Given the description of an element on the screen output the (x, y) to click on. 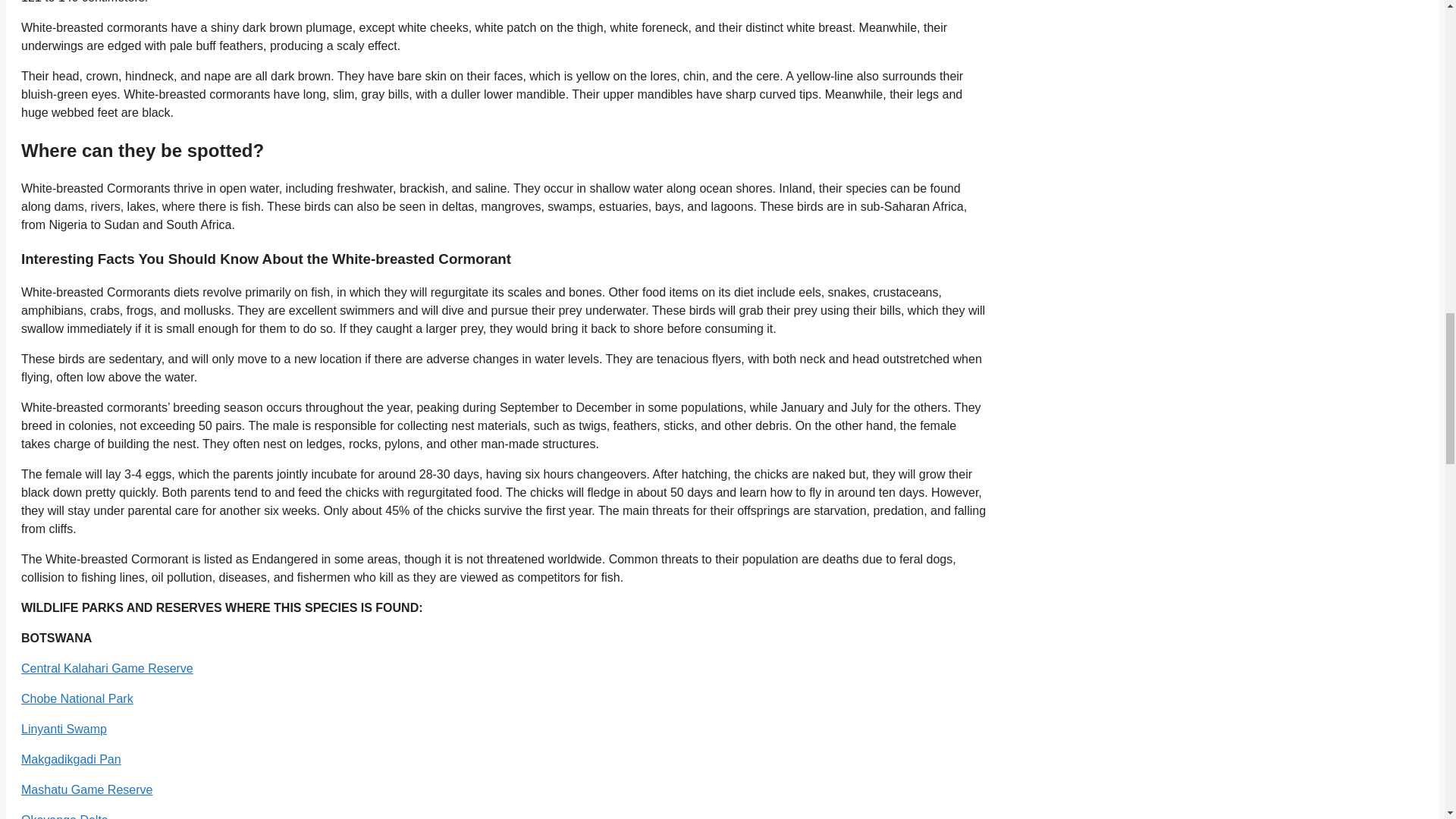
Chobe National Park (77, 698)
Okavango Delta (64, 816)
Linyanti Swamp (63, 728)
Central Kalahari Game Reserve (107, 667)
Mashatu Game Reserve (86, 789)
Makgadikgadi Pan (70, 758)
